Given the description of an element on the screen output the (x, y) to click on. 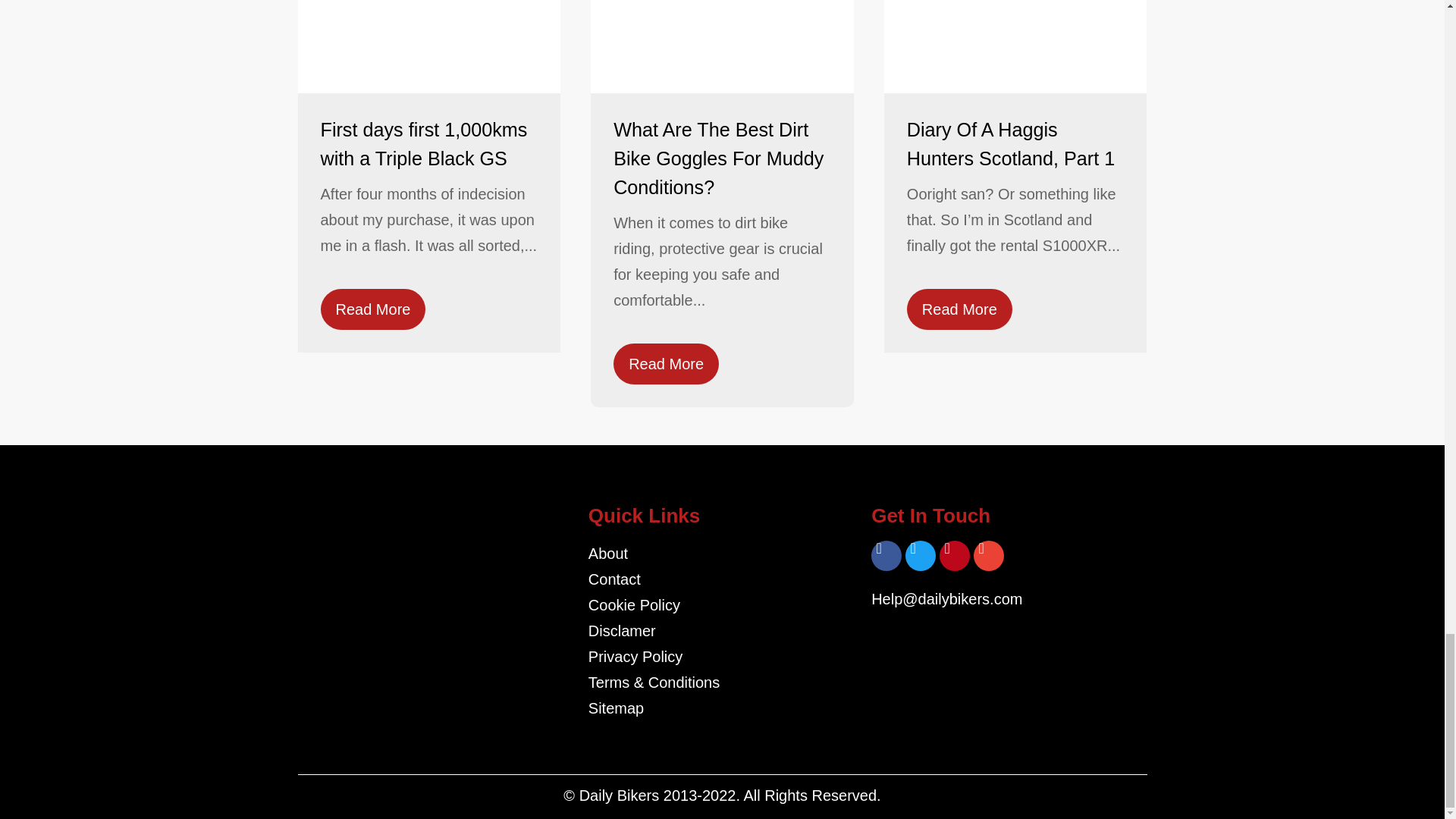
Disclamer (722, 630)
Privacy Policy (722, 656)
Diary Of A Haggis Hunters Scotland, Part 1 (1015, 144)
Cookie Policy (722, 605)
Read More (665, 363)
First days first 1,000kms with a Triple Black GS (428, 144)
About (722, 553)
Read More (959, 309)
Sitemap (722, 708)
Contact (722, 579)
